Given the description of an element on the screen output the (x, y) to click on. 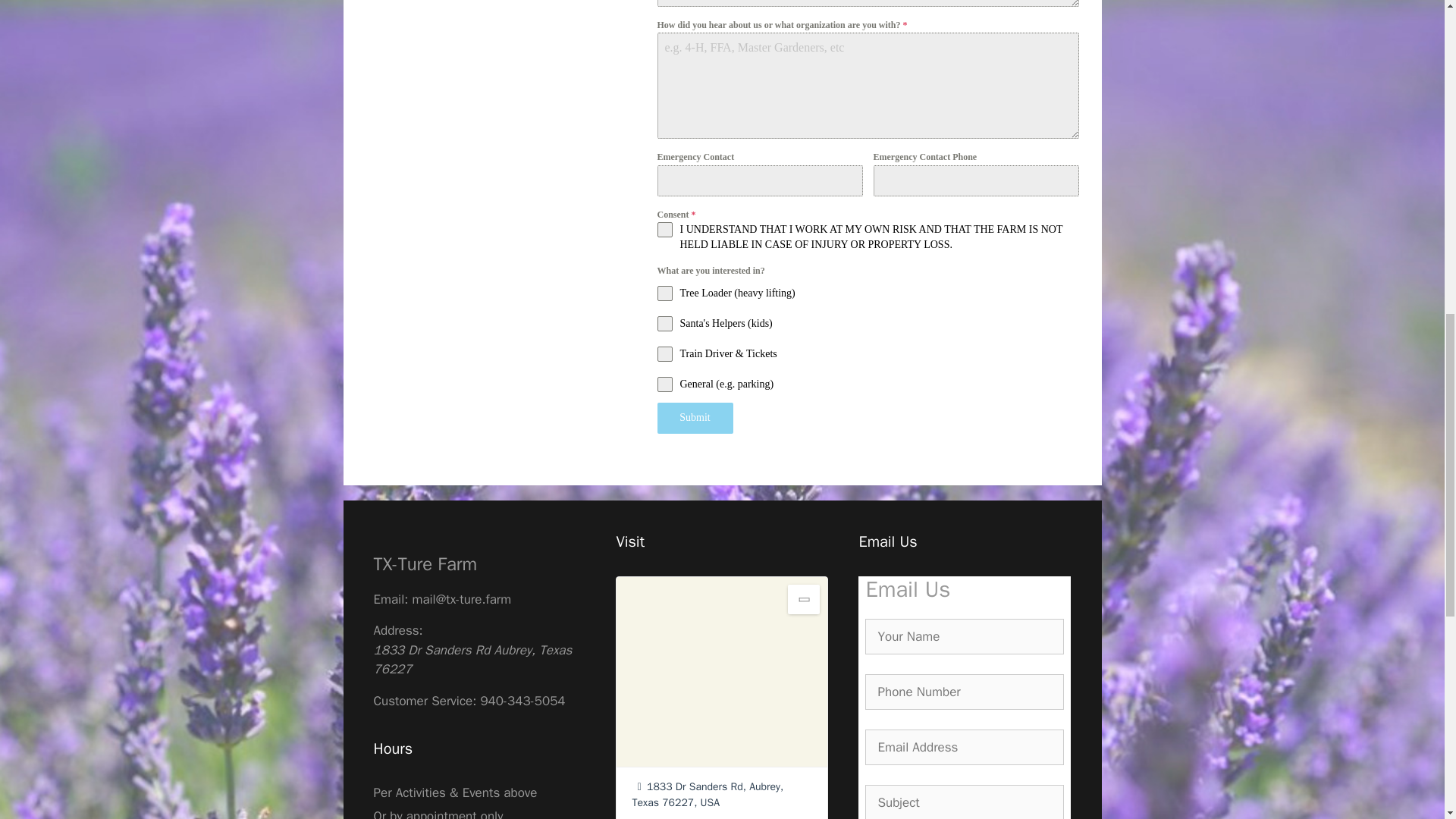
Scroll back to top (1406, 720)
1833 Dr Sanders Rd, Aubrey, Texas 76227, USA (707, 794)
TX-Ture Farm (424, 563)
FareHarbor (1342, 64)
940-343-5054 (522, 700)
Submit (694, 417)
